Given the description of an element on the screen output the (x, y) to click on. 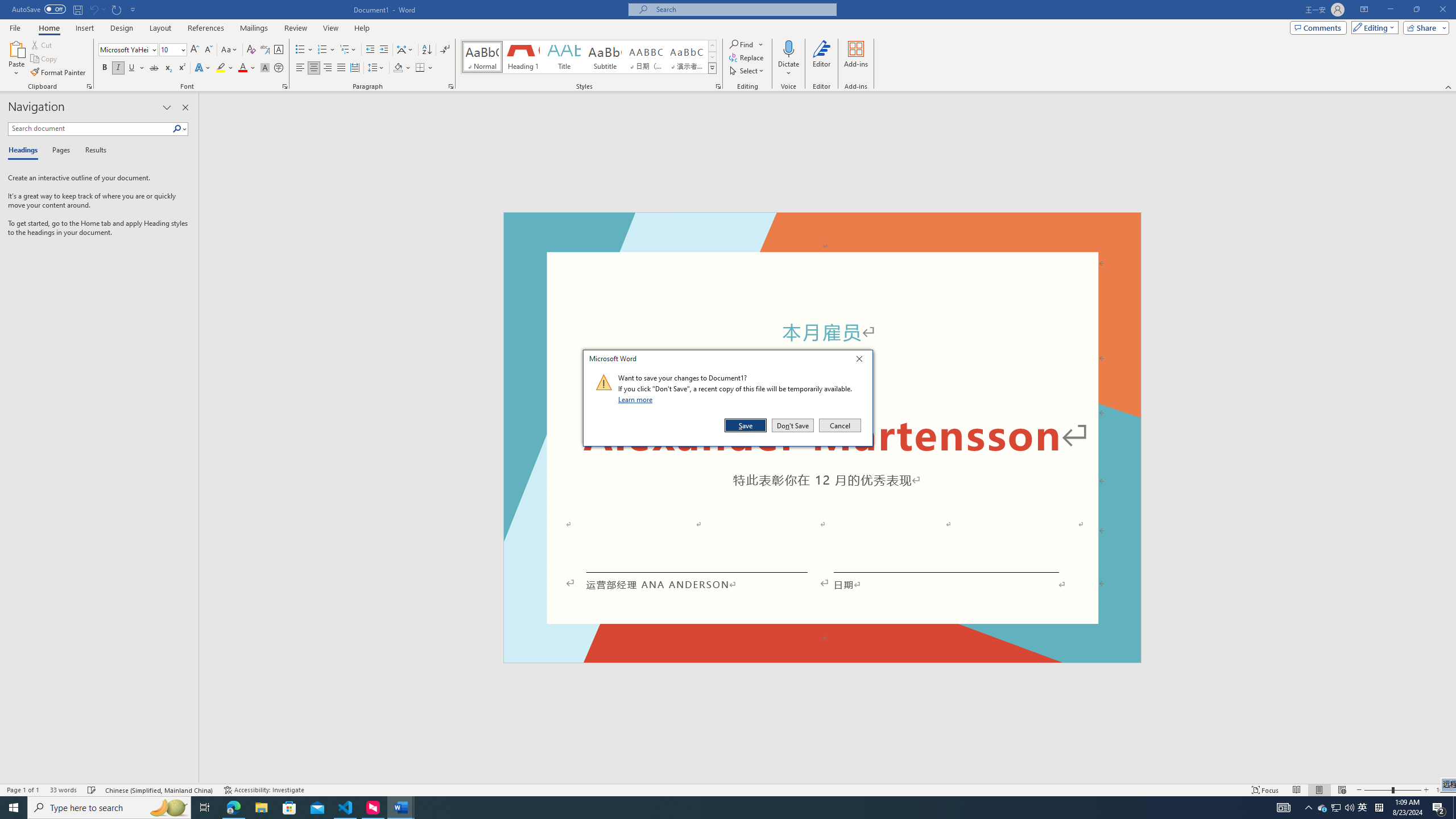
Justify (340, 67)
Line and Paragraph Spacing (376, 67)
Print Layout (1318, 790)
Minimize (1390, 9)
Focus  (1265, 790)
Font Size (169, 49)
Notification Chevron (1308, 807)
Clear Formatting (250, 49)
Paste (16, 58)
Text Effects and Typography (202, 67)
Cut (42, 44)
Search (177, 128)
Find (742, 44)
